Given the description of an element on the screen output the (x, y) to click on. 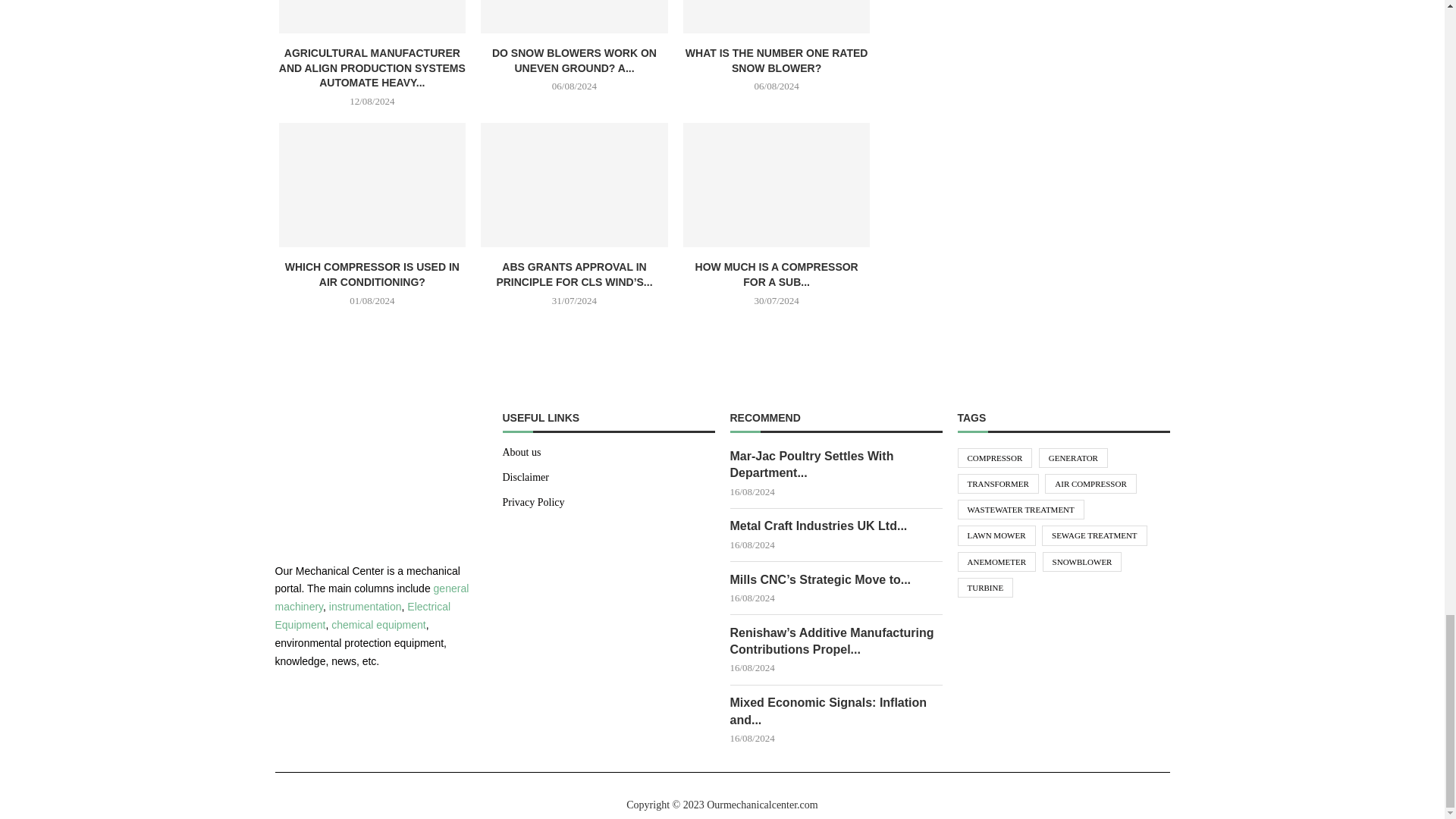
Which Compressor is Used in Air Conditioning? (372, 184)
What is the number one rated snow blower? (776, 16)
How Much Is A Compressor For A Sub Zero Refrigerator (776, 184)
